Given the description of an element on the screen output the (x, y) to click on. 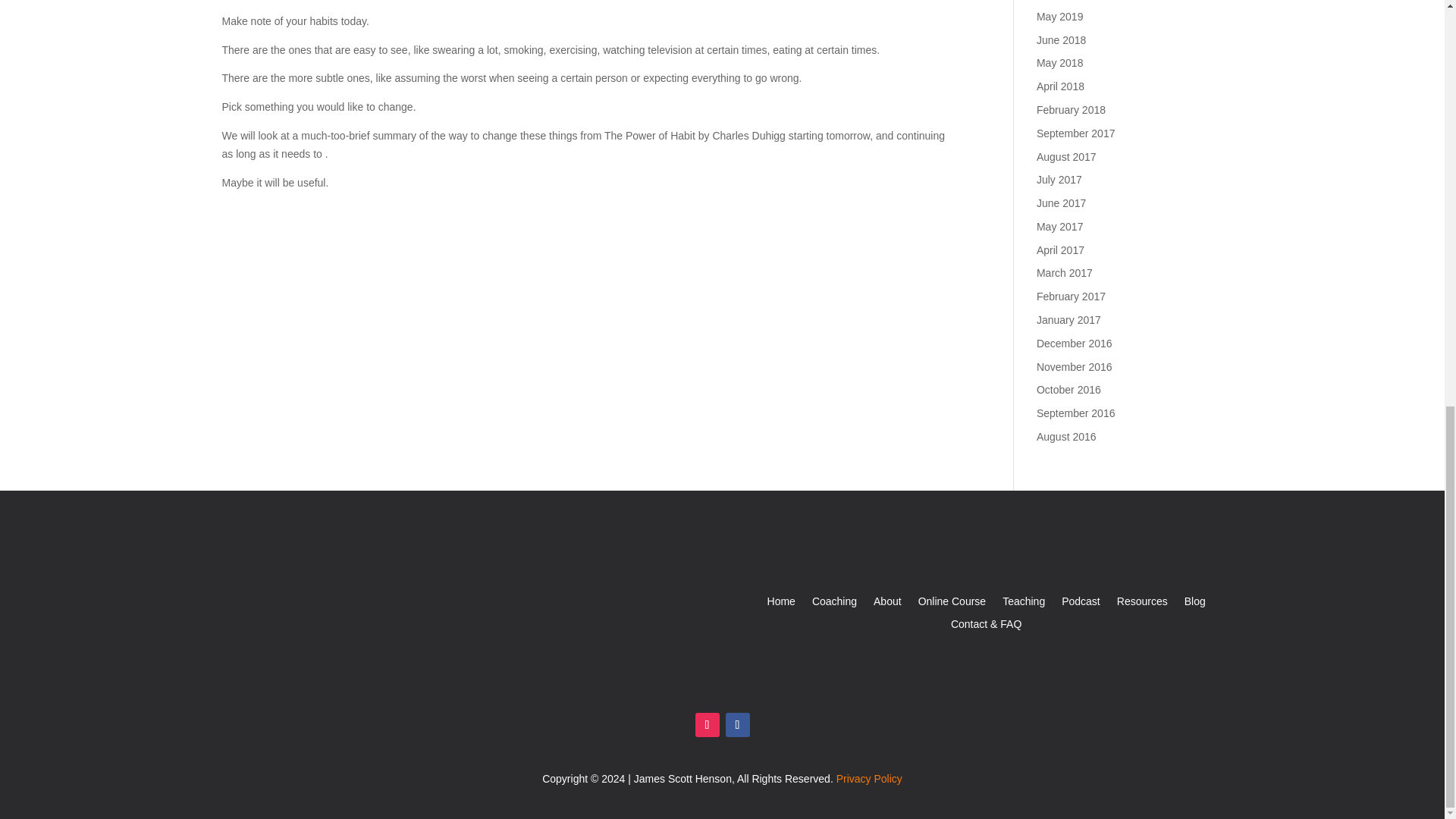
Follow on Instagram (706, 724)
james-scott-henson-logo2 (307, 635)
September 2017 (1075, 133)
May 2019 (1059, 16)
May 2018 (1059, 62)
April 2018 (1060, 86)
June 2018 (1061, 39)
Follow on Facebook (737, 724)
August 2017 (1066, 156)
February 2018 (1070, 110)
